Given the description of an element on the screen output the (x, y) to click on. 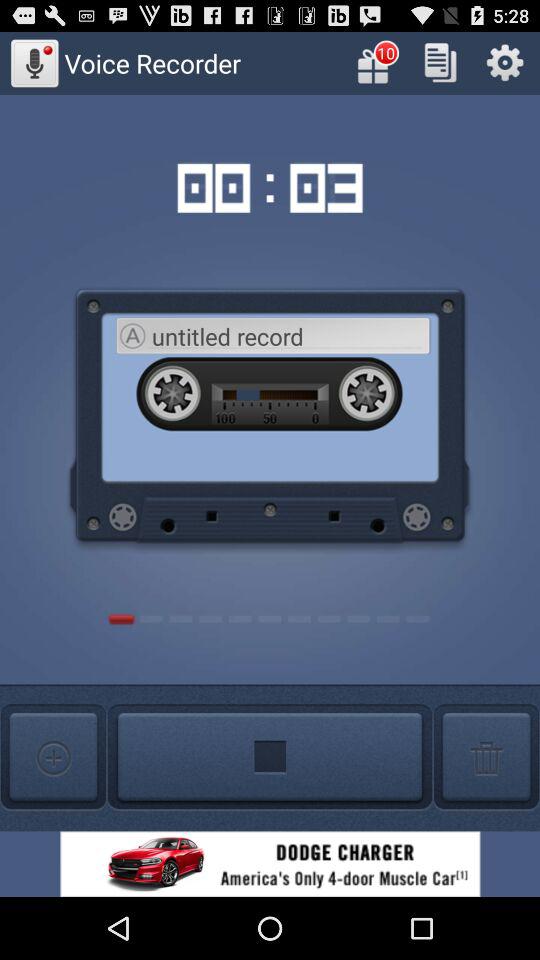
stop (269, 757)
